Given the description of an element on the screen output the (x, y) to click on. 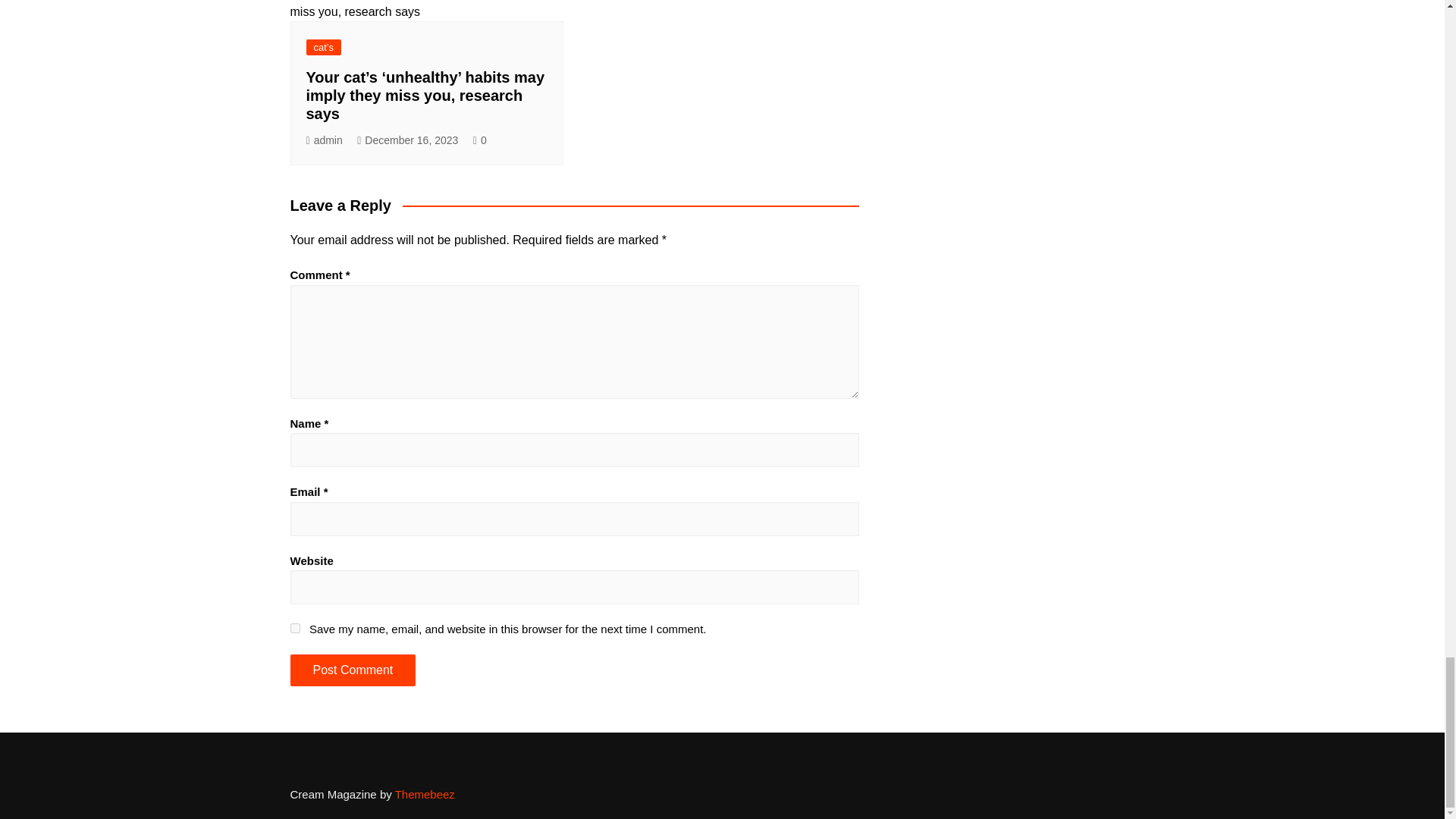
December 16, 2023 (407, 140)
admin (323, 140)
Post Comment (351, 670)
Post Comment (351, 670)
yes (294, 628)
